Given the description of an element on the screen output the (x, y) to click on. 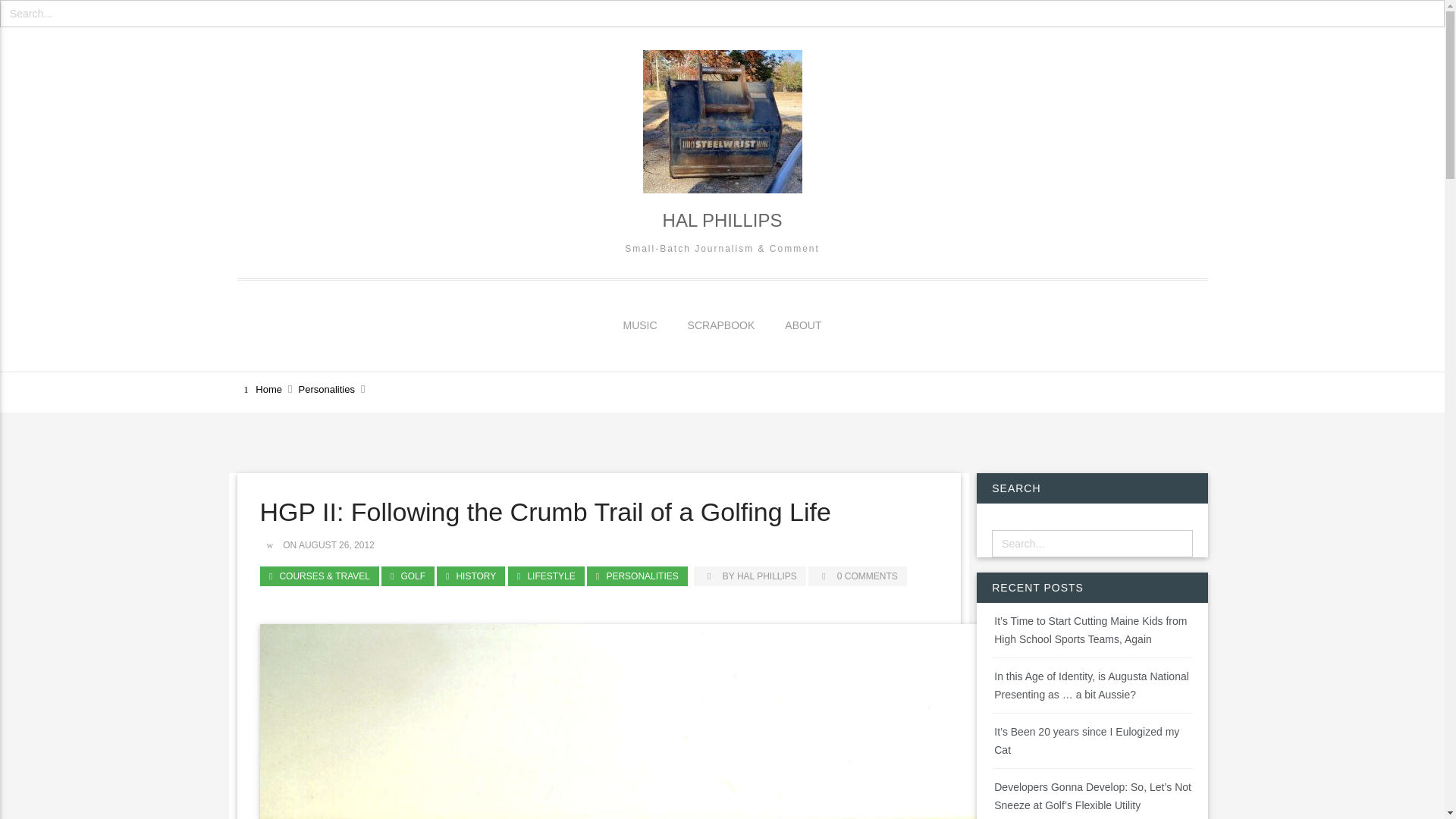
LIFESTYLE (546, 576)
BY HAL PHILLIPS (750, 576)
ABOUT (802, 325)
0 COMMENTS (857, 576)
PERSONALITIES (636, 576)
About (802, 325)
Personalities (325, 389)
Scrapbook (722, 325)
HISTORY (470, 576)
Music (639, 325)
go to home (261, 389)
MUSIC (639, 325)
HAL PHILLIPS (721, 220)
SCRAPBOOK (722, 325)
Home (261, 389)
